Given the description of an element on the screen output the (x, y) to click on. 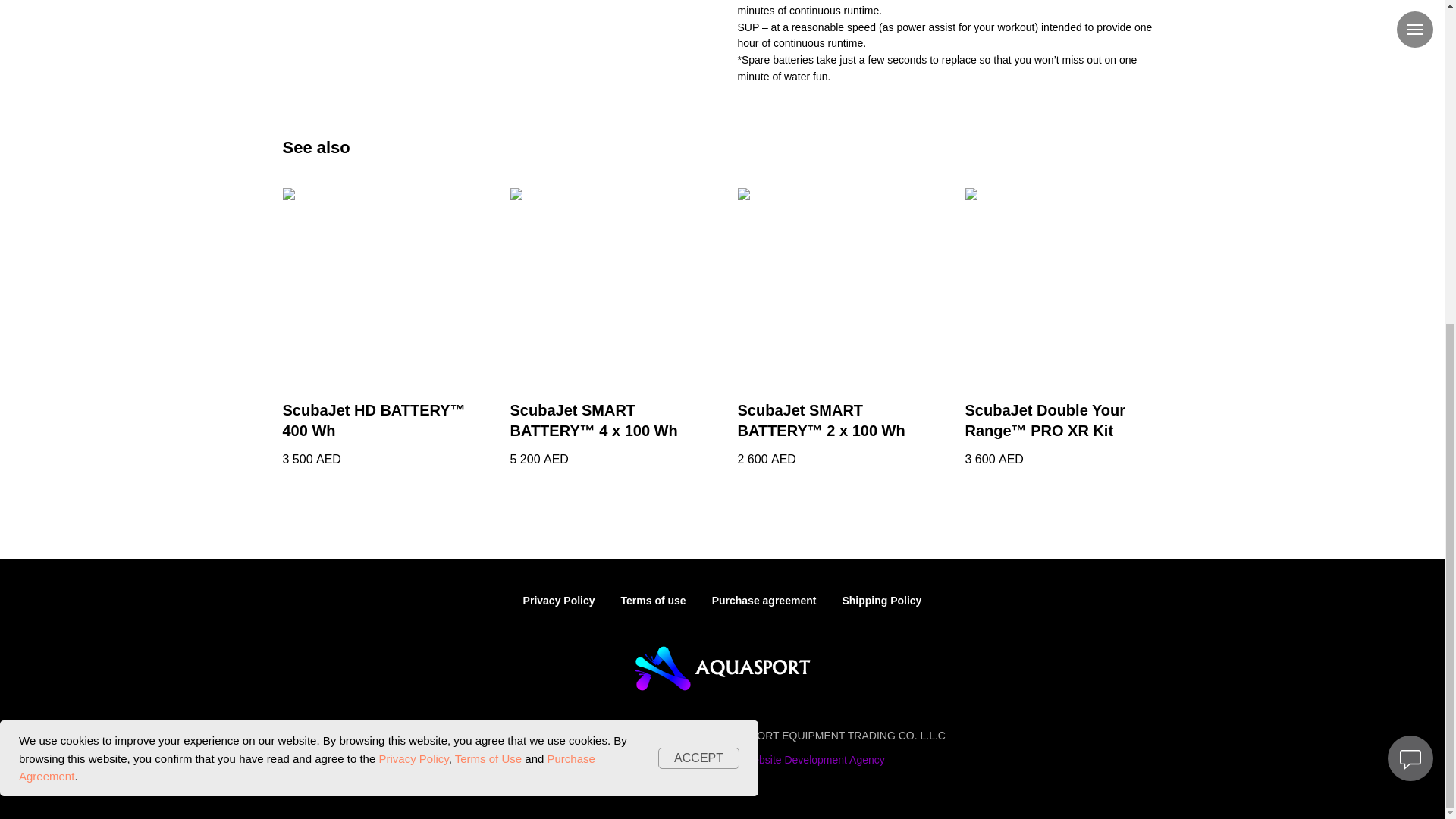
Purchase agreement (763, 600)
Privacy Policy (558, 600)
Terms of Use (487, 228)
Terms of use (653, 600)
Privacy Policy (413, 228)
Shipping Policy (881, 600)
Website Development Agency (813, 759)
Purchase Agreement (306, 237)
